Given the description of an element on the screen output the (x, y) to click on. 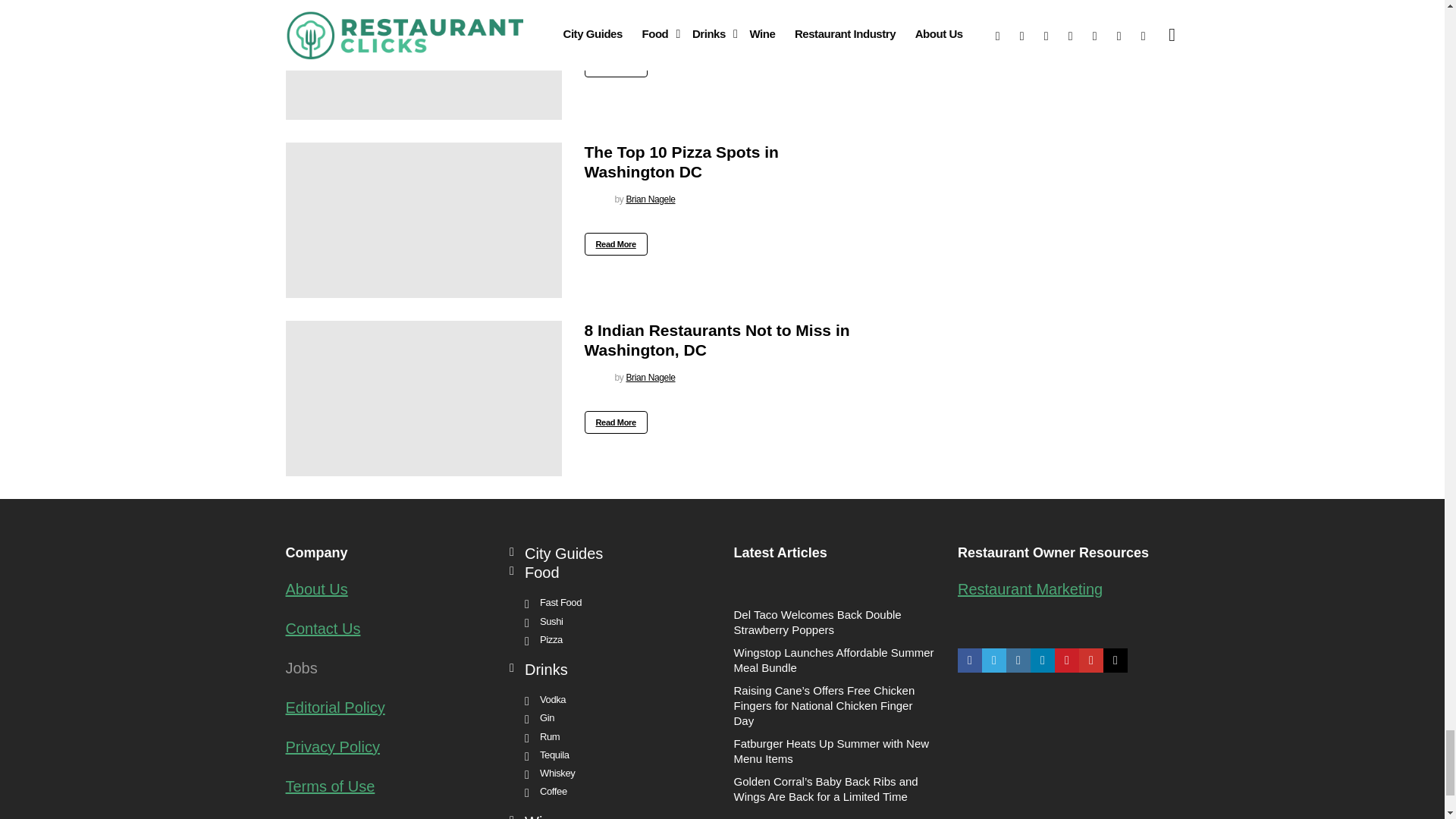
Where to Get Amazing Sushi in Washington DC (422, 59)
Posts by Brian Nagele (650, 377)
Posts by Brian Nagele (650, 20)
The Top 10 Pizza Spots in Washington DC (422, 220)
8 Indian Restaurants Not to Miss in Washington, DC (422, 398)
Posts by Brian Nagele (650, 199)
